Given the description of an element on the screen output the (x, y) to click on. 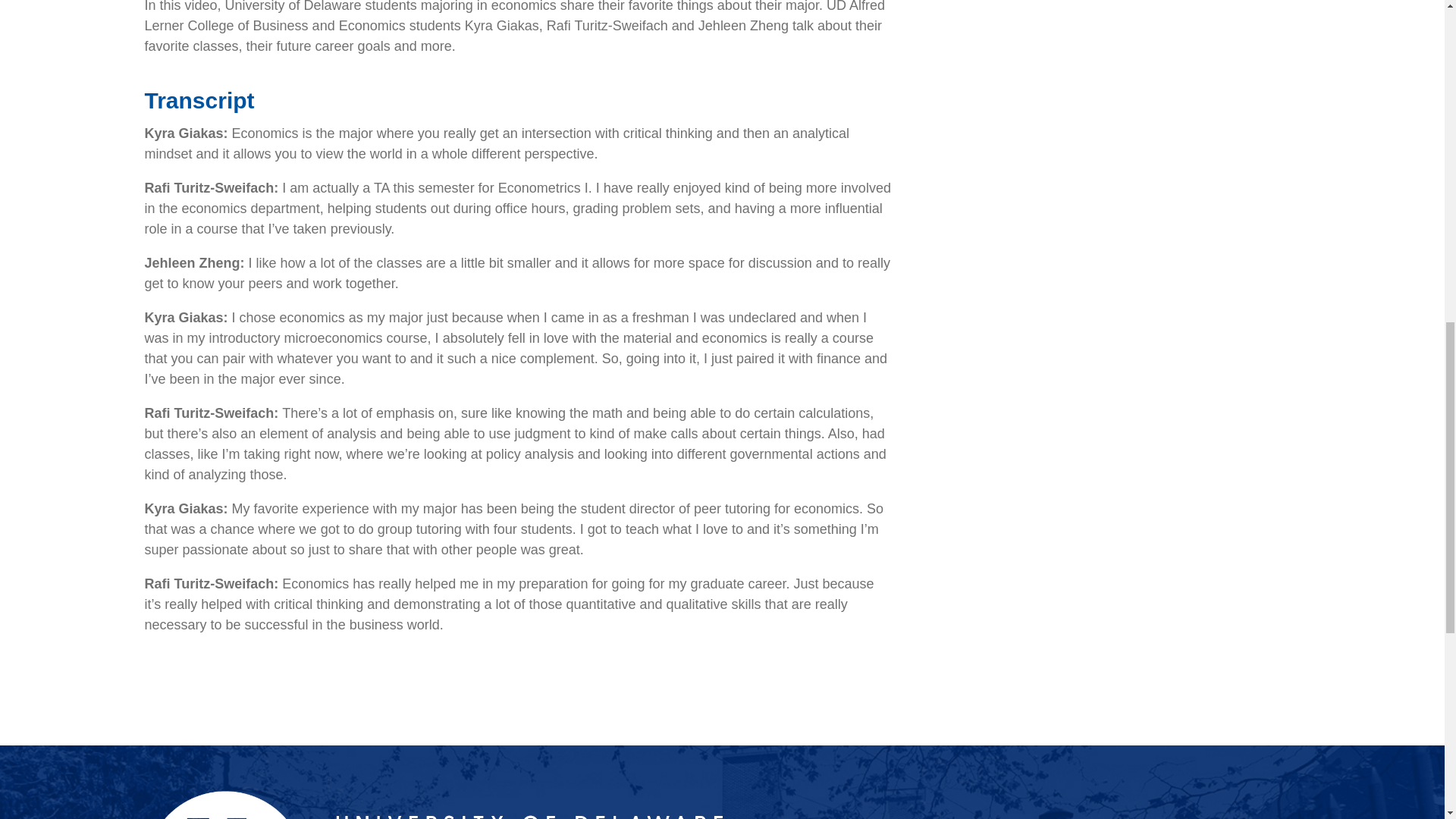
ud-lerner-monogram (433, 805)
